Given the description of an element on the screen output the (x, y) to click on. 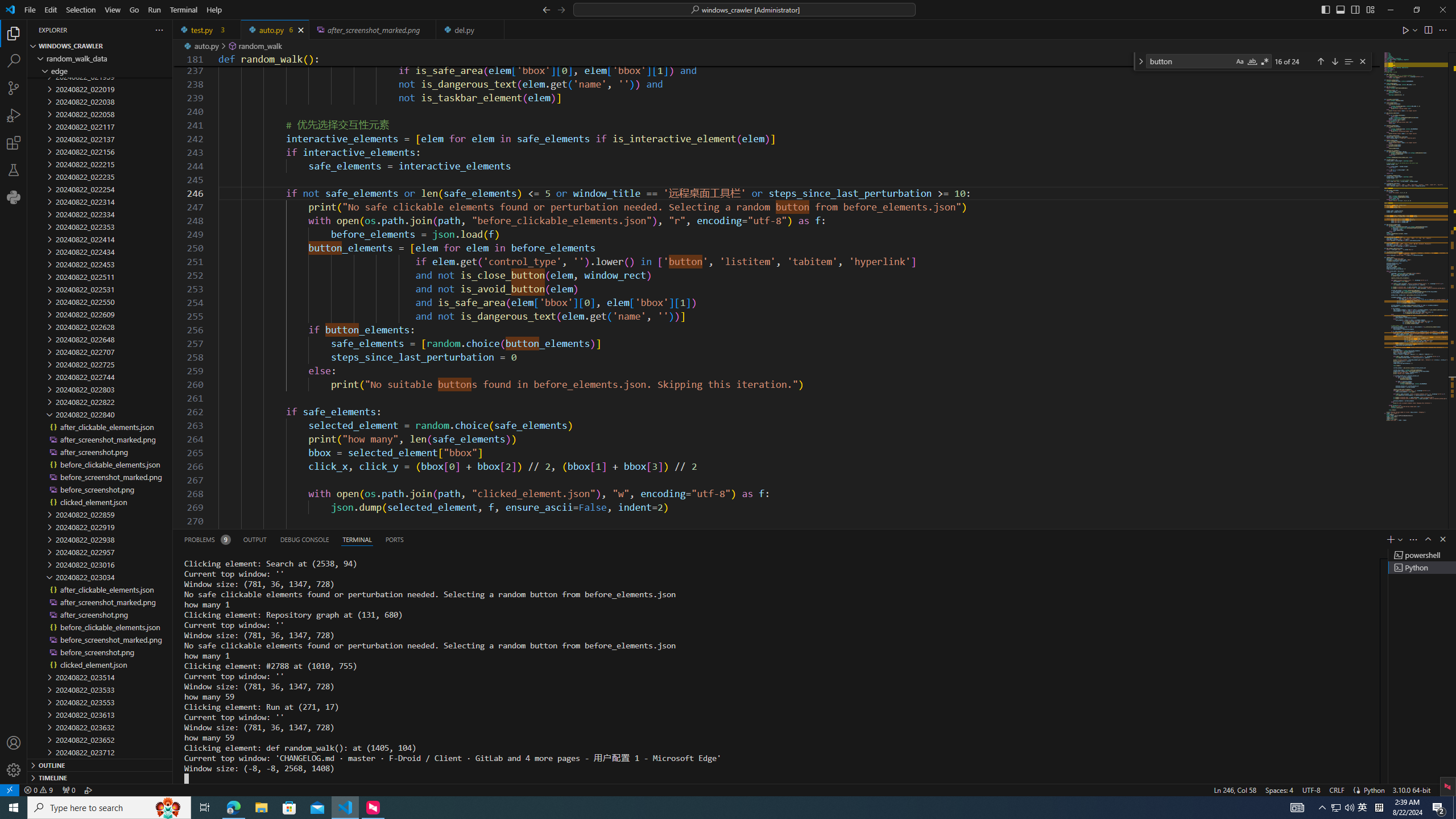
Find (1190, 60)
Manage (13, 755)
Terminal 5 Python (1422, 567)
CRLF (1336, 789)
Toggle Primary Side Bar (Ctrl+B) (1325, 9)
Warnings: 9 (37, 789)
Explorer (Ctrl+Shift+E) (13, 33)
auto.py (274, 29)
Debug Console (Ctrl+Shift+Y) (304, 539)
Run or Debug... (1414, 29)
Match Whole Word (Alt+W) (1251, 61)
File (30, 9)
